Given the description of an element on the screen output the (x, y) to click on. 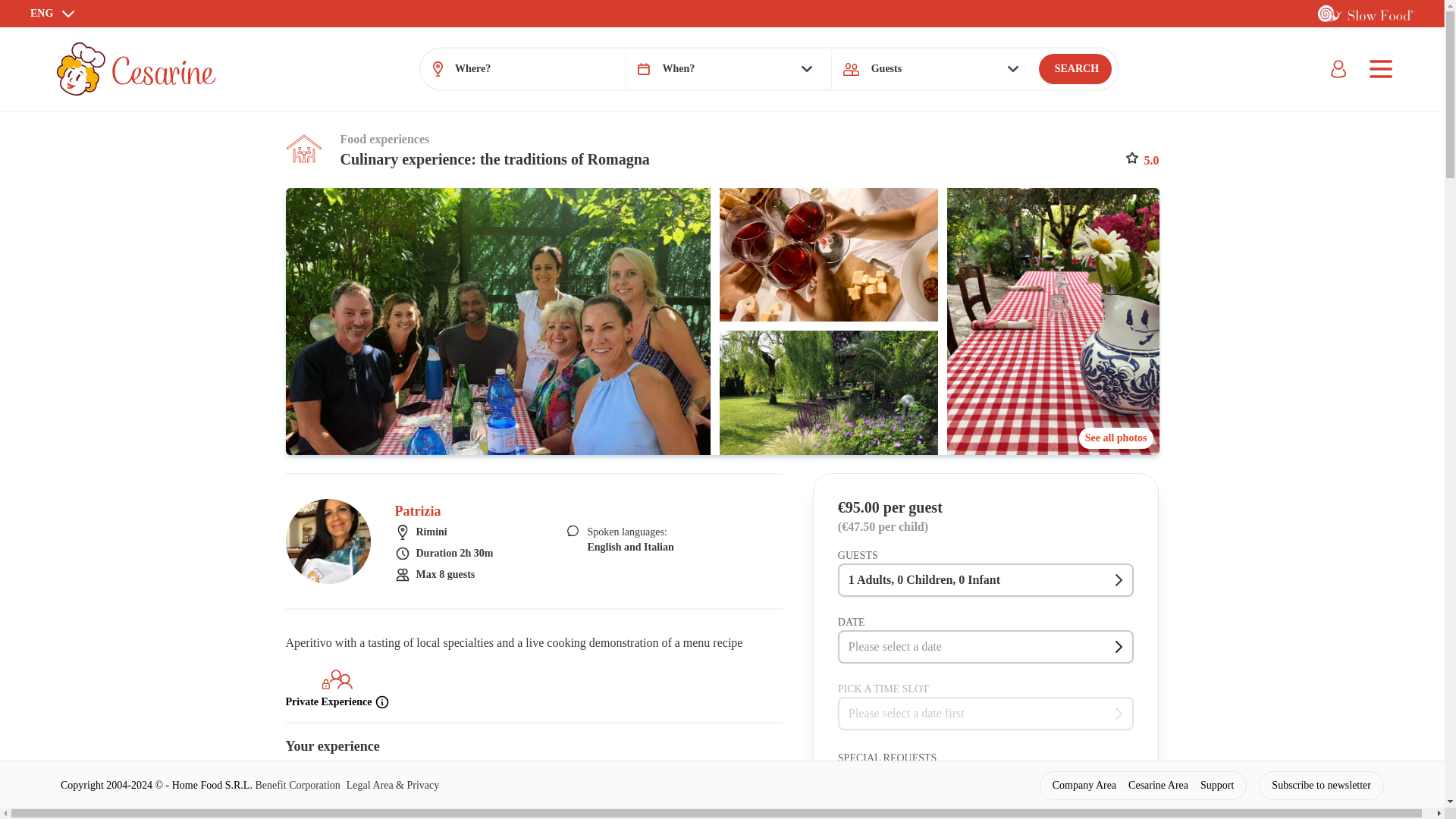
ENG (53, 13)
Rimini (443, 531)
Patrizia (417, 510)
Food experiences (384, 138)
1 Adults, 0 Children, 0 Infant (986, 580)
BOOK (1274, 816)
See all photos (1115, 437)
SEARCH (1075, 69)
